Given the description of an element on the screen output the (x, y) to click on. 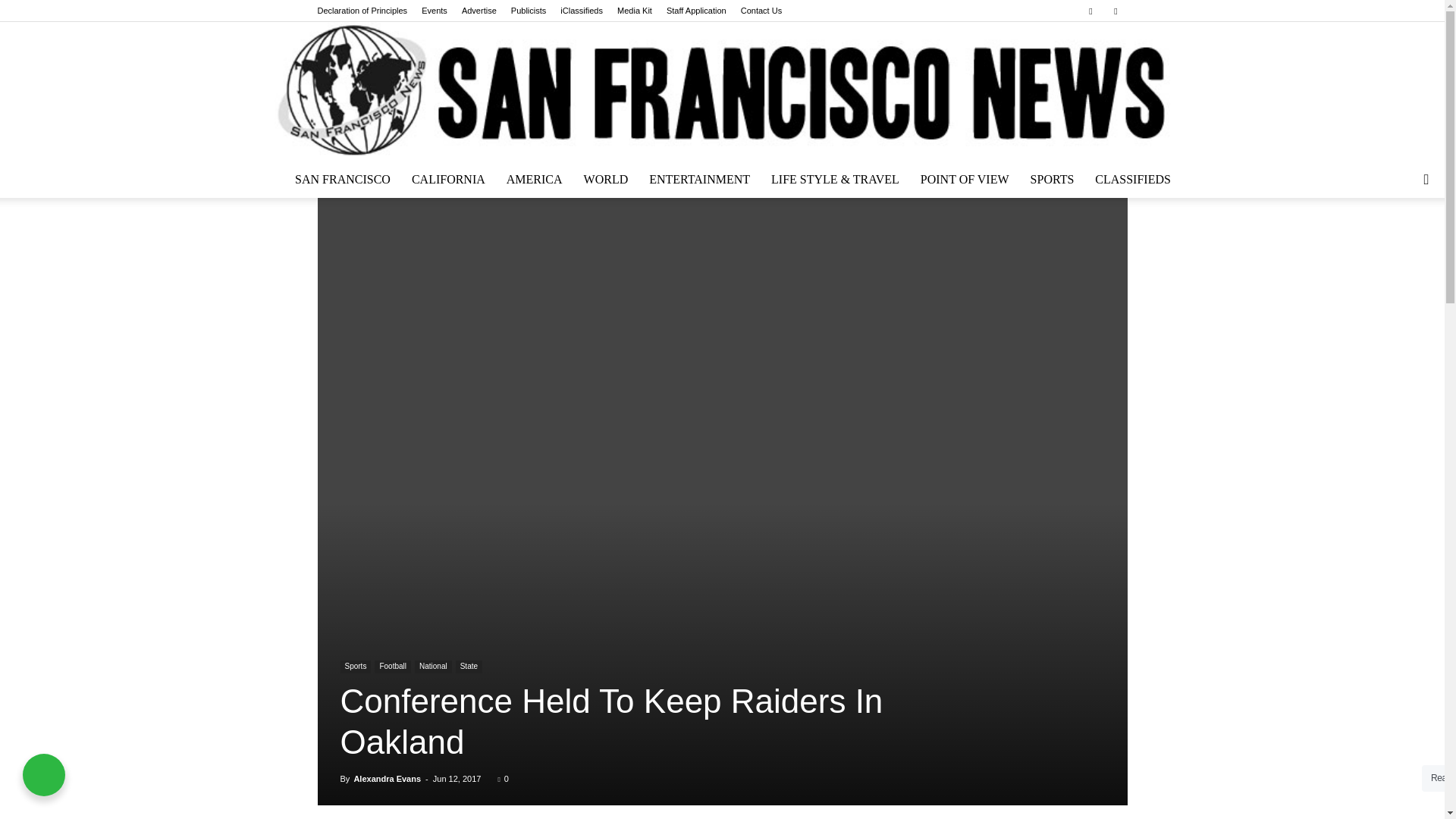
Events (434, 10)
Twitter (1114, 10)
Declaration of Principles (362, 10)
Publicists (528, 10)
Media Kit (634, 10)
iClassifieds (581, 10)
Advertise (478, 10)
Staff Application (696, 10)
Facebook (1090, 10)
Contact Us (761, 10)
